Given the description of an element on the screen output the (x, y) to click on. 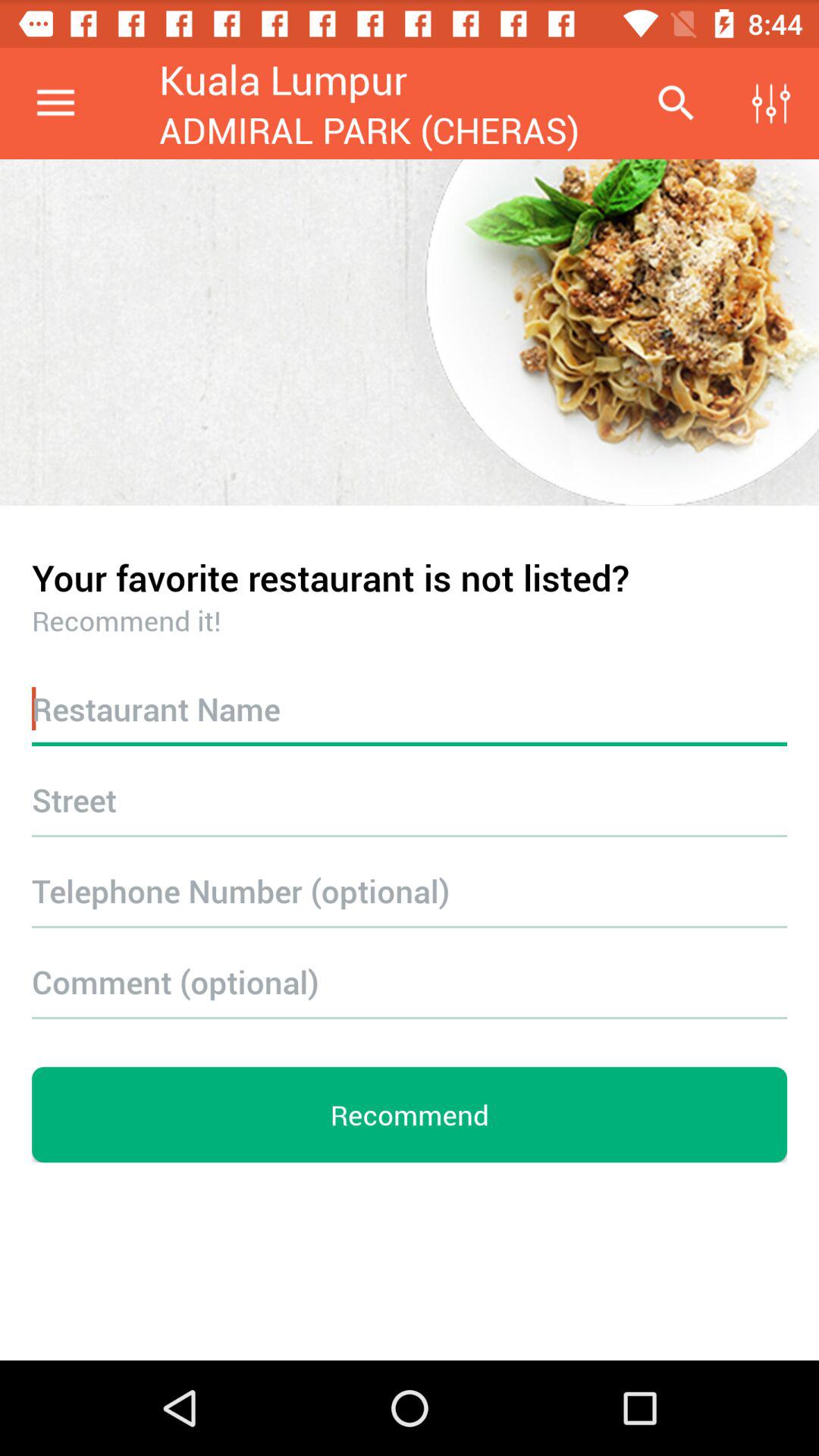
put street (409, 799)
